Given the description of an element on the screen output the (x, y) to click on. 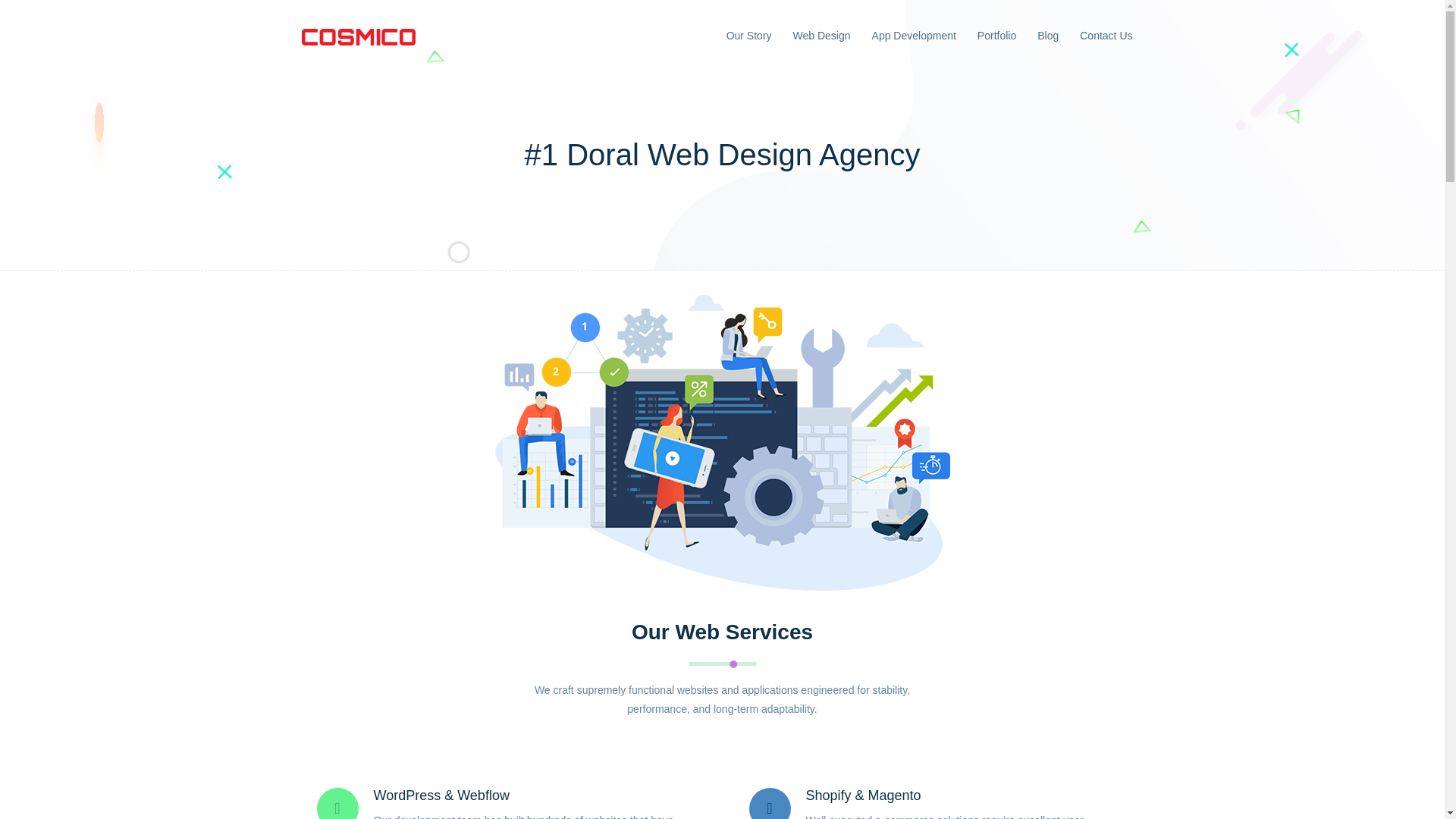
Our Story (748, 35)
Portfolio (996, 35)
App Development (914, 35)
Our Story (748, 35)
Web Design (821, 35)
Portfolio (996, 35)
Contact Us (1106, 35)
Web Design (821, 35)
Contact Us (1106, 35)
App Development (914, 35)
